Given the description of an element on the screen output the (x, y) to click on. 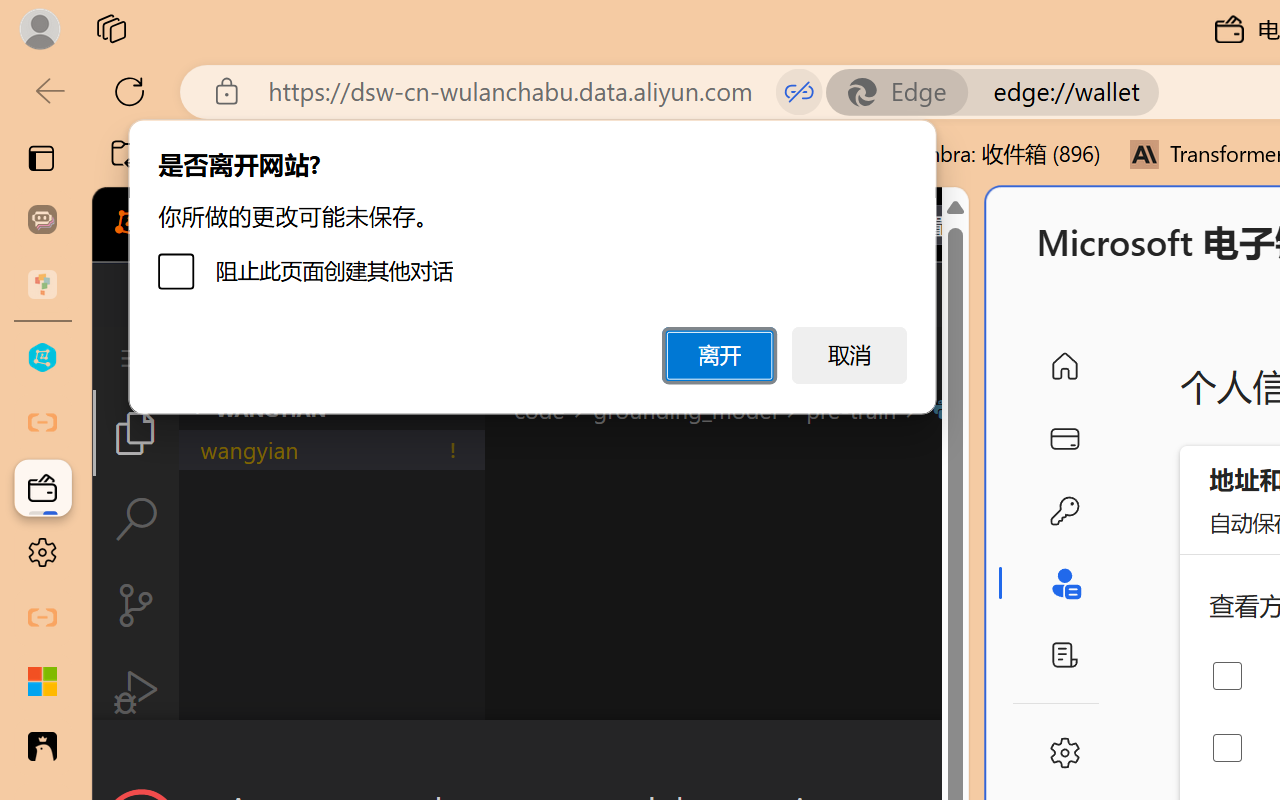
Class: actions-container (529, 756)
